Given the description of an element on the screen output the (x, y) to click on. 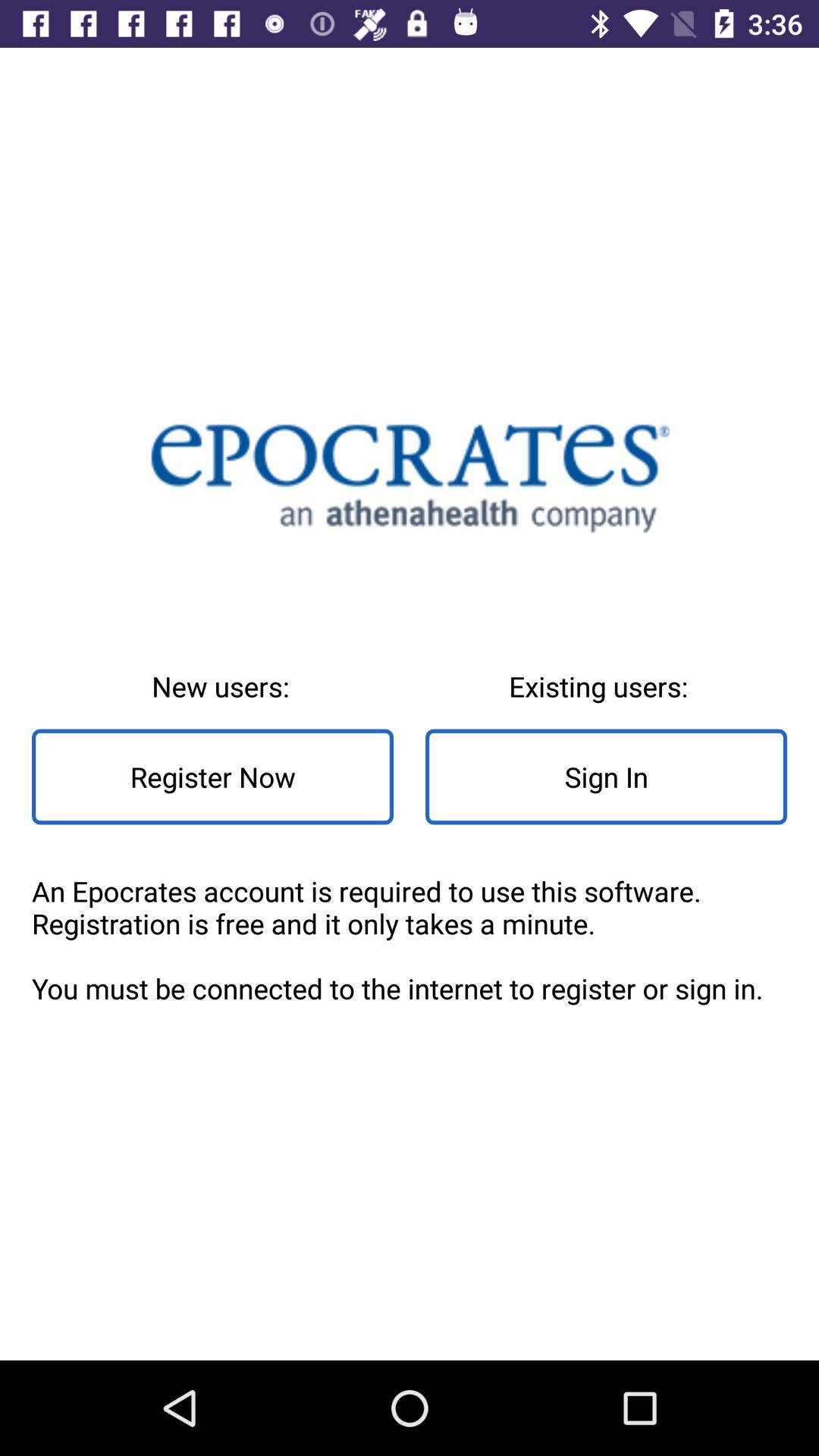
turn off item to the right of the new users: icon (606, 776)
